Given the description of an element on the screen output the (x, y) to click on. 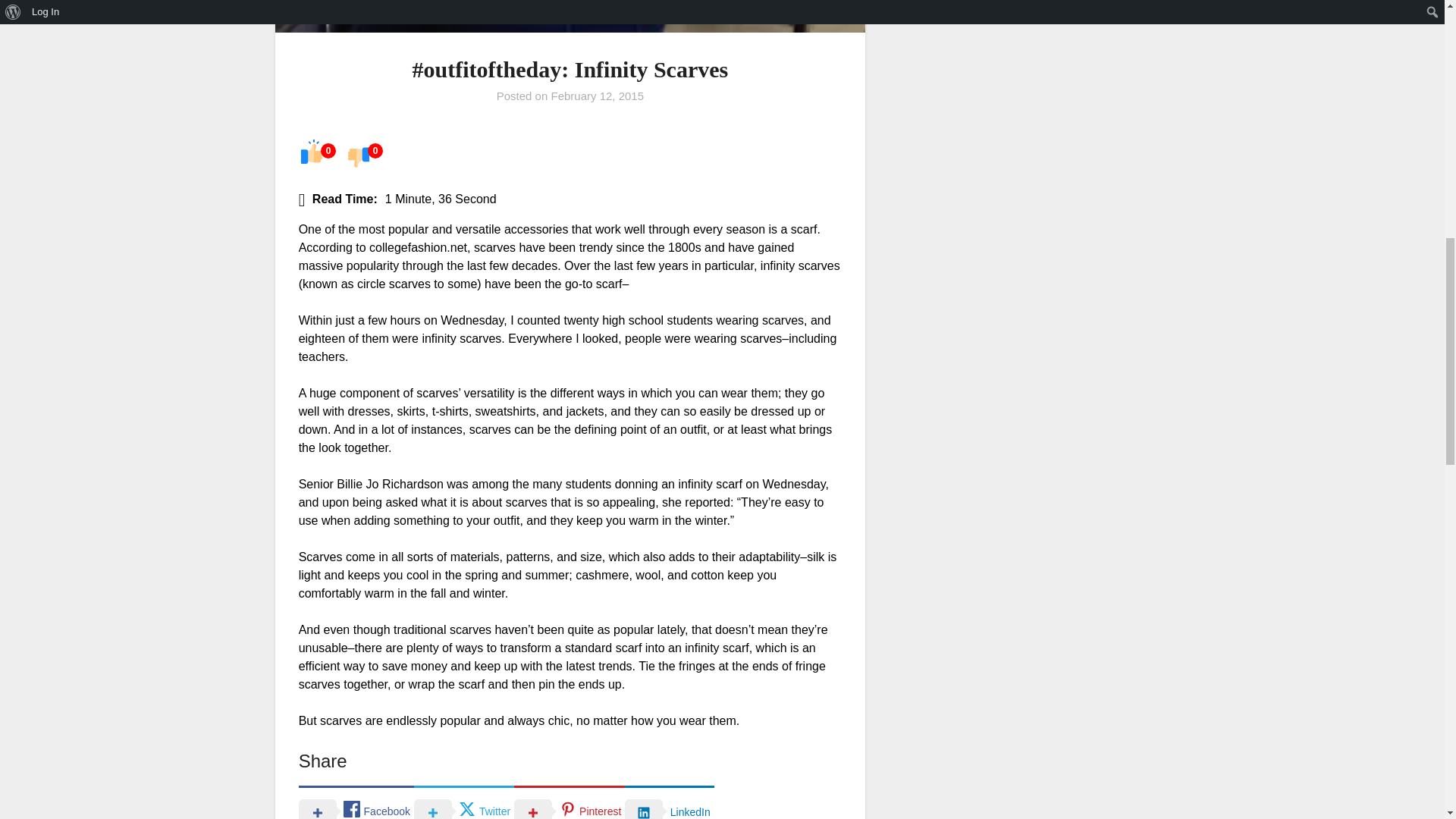
Facebook (355, 802)
Twitter (463, 802)
Pinterest (568, 802)
February 12, 2015 (596, 95)
LinkedIn (668, 802)
